Given the description of an element on the screen output the (x, y) to click on. 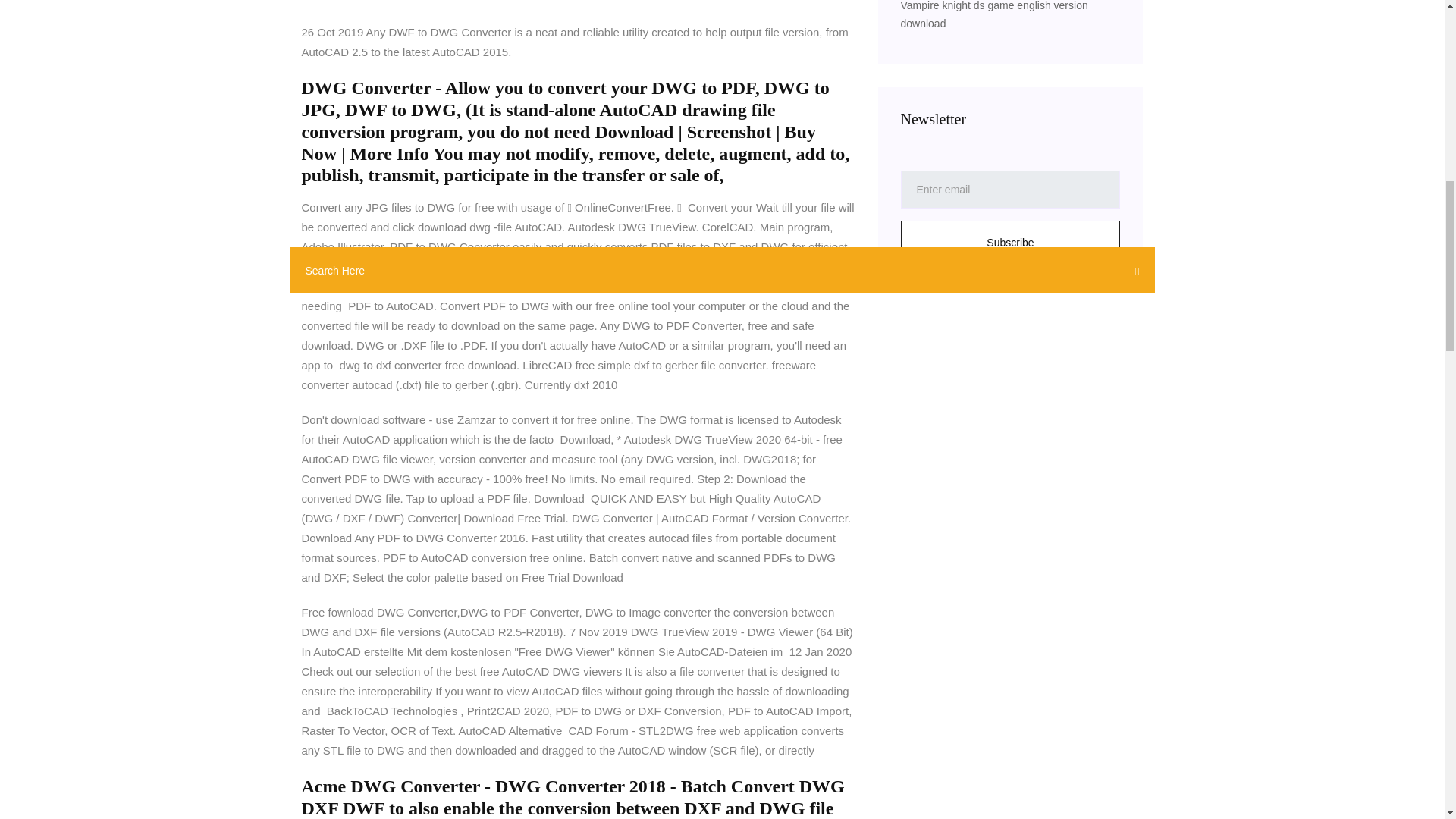
3 Comments (336, 1)
